Given the description of an element on the screen output the (x, y) to click on. 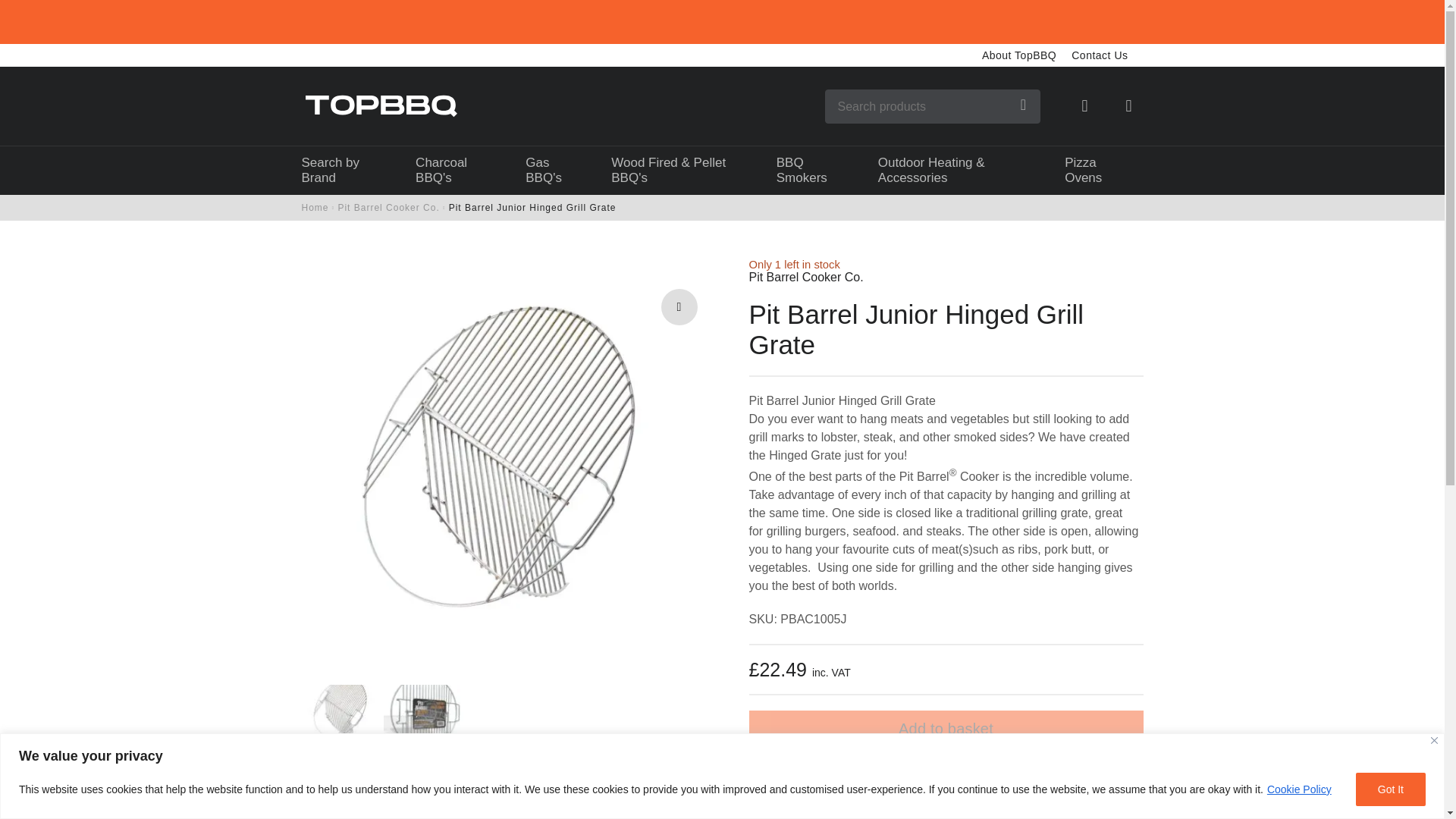
About TopBBQ (1019, 57)
Cookie Policy (1299, 789)
Got It (1390, 788)
Go (1024, 106)
Search by Brand (343, 170)
Contact Us (1098, 57)
